Given the description of an element on the screen output the (x, y) to click on. 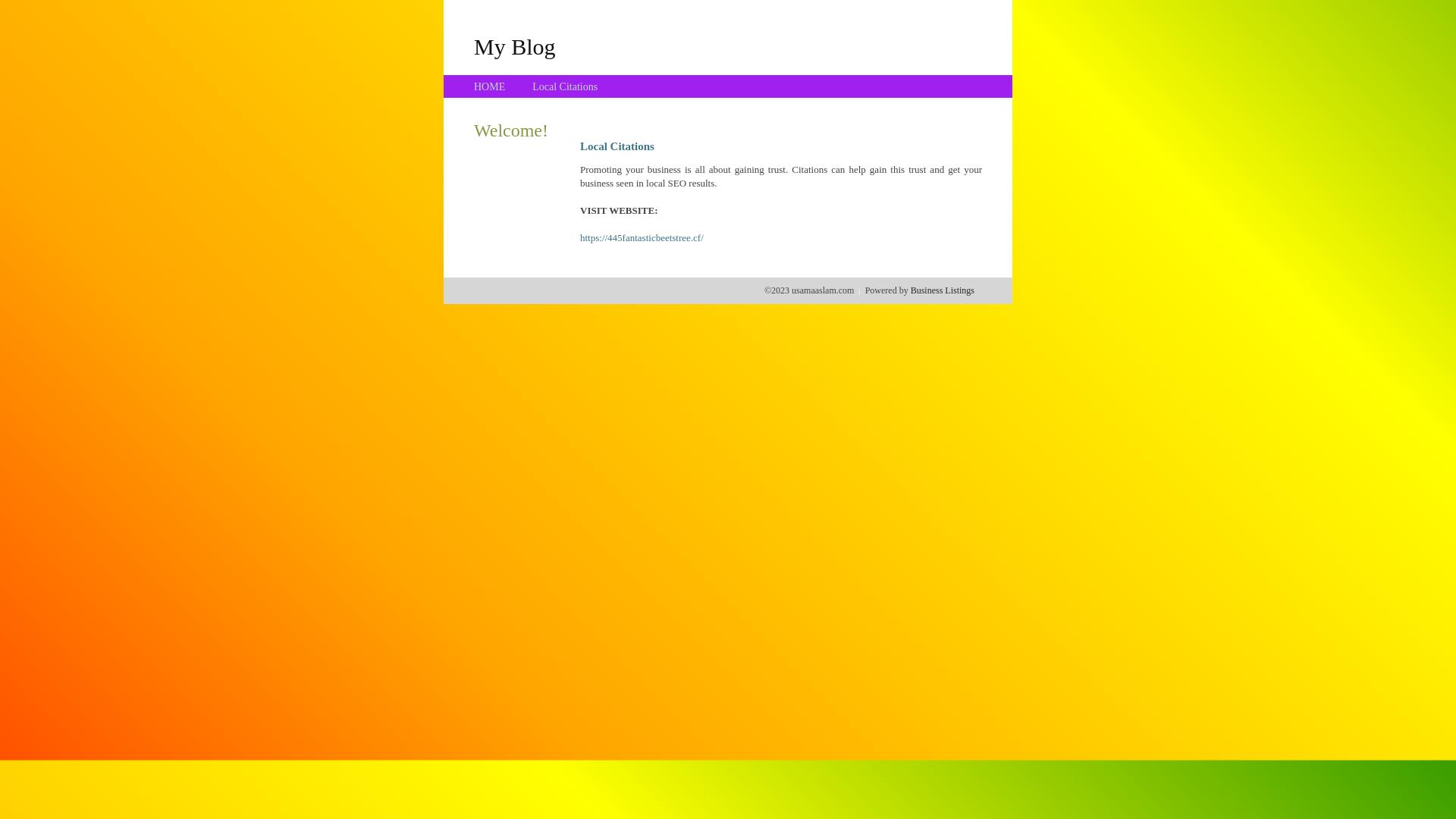
Local Citations Element type: text (564, 86)
https://445fantasticbeetstree.cf/ Element type: text (641, 237)
HOME Element type: text (489, 86)
My Blog Element type: text (514, 46)
Business Listings Element type: text (942, 290)
